Given the description of an element on the screen output the (x, y) to click on. 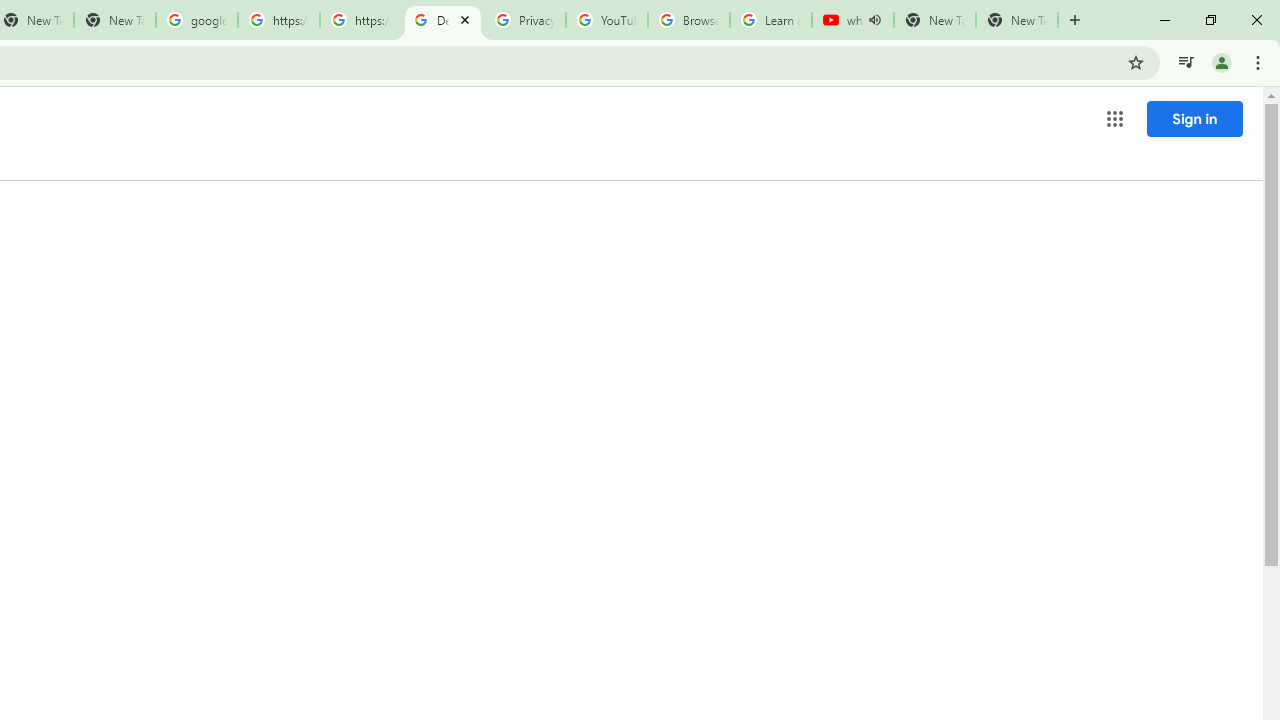
YouTube (606, 20)
Mute tab (874, 20)
New Tab (1016, 20)
Browse Chrome as a guest - Computer - Google Chrome Help (688, 20)
https://scholar.google.com/ (278, 20)
